Given the description of an element on the screen output the (x, y) to click on. 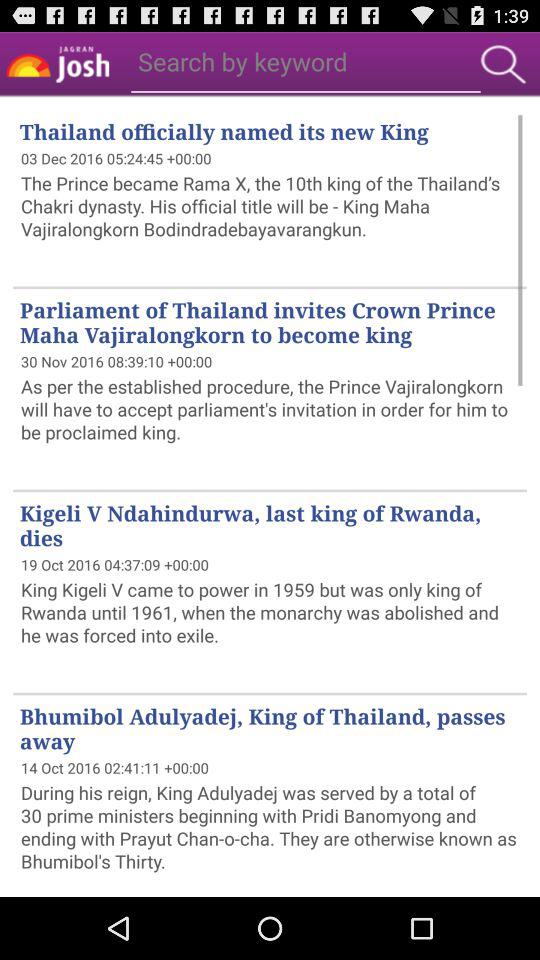
search (503, 64)
